Given the description of an element on the screen output the (x, y) to click on. 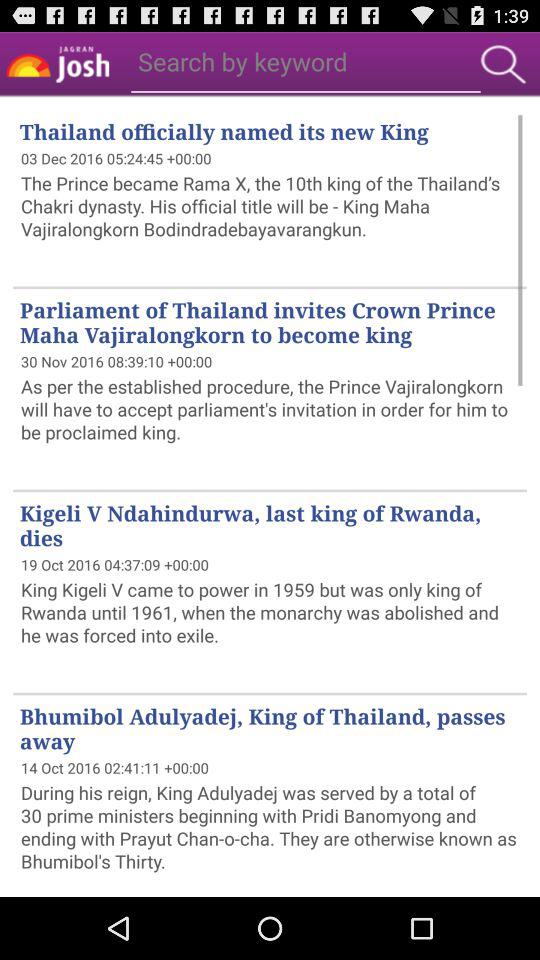
search (503, 64)
